Given the description of an element on the screen output the (x, y) to click on. 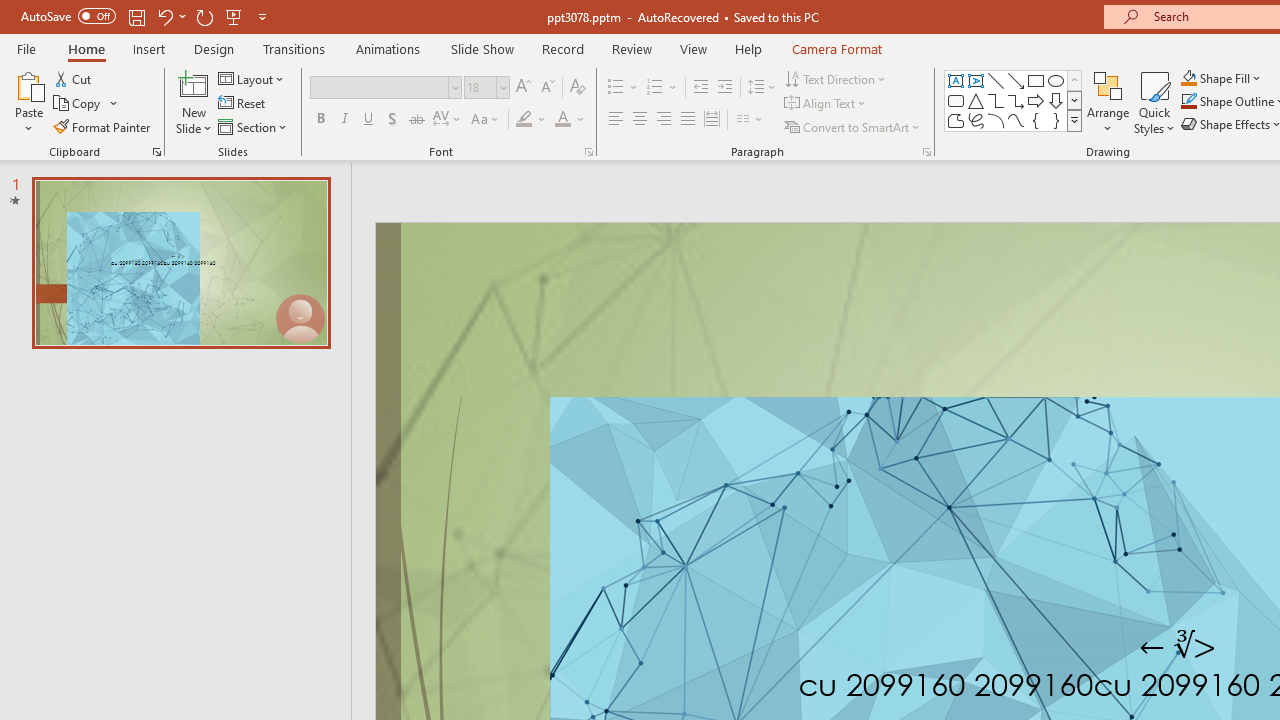
Camera Format (836, 48)
Shape Outline Green, Accent 1 (1188, 101)
